Given the description of an element on the screen output the (x, y) to click on. 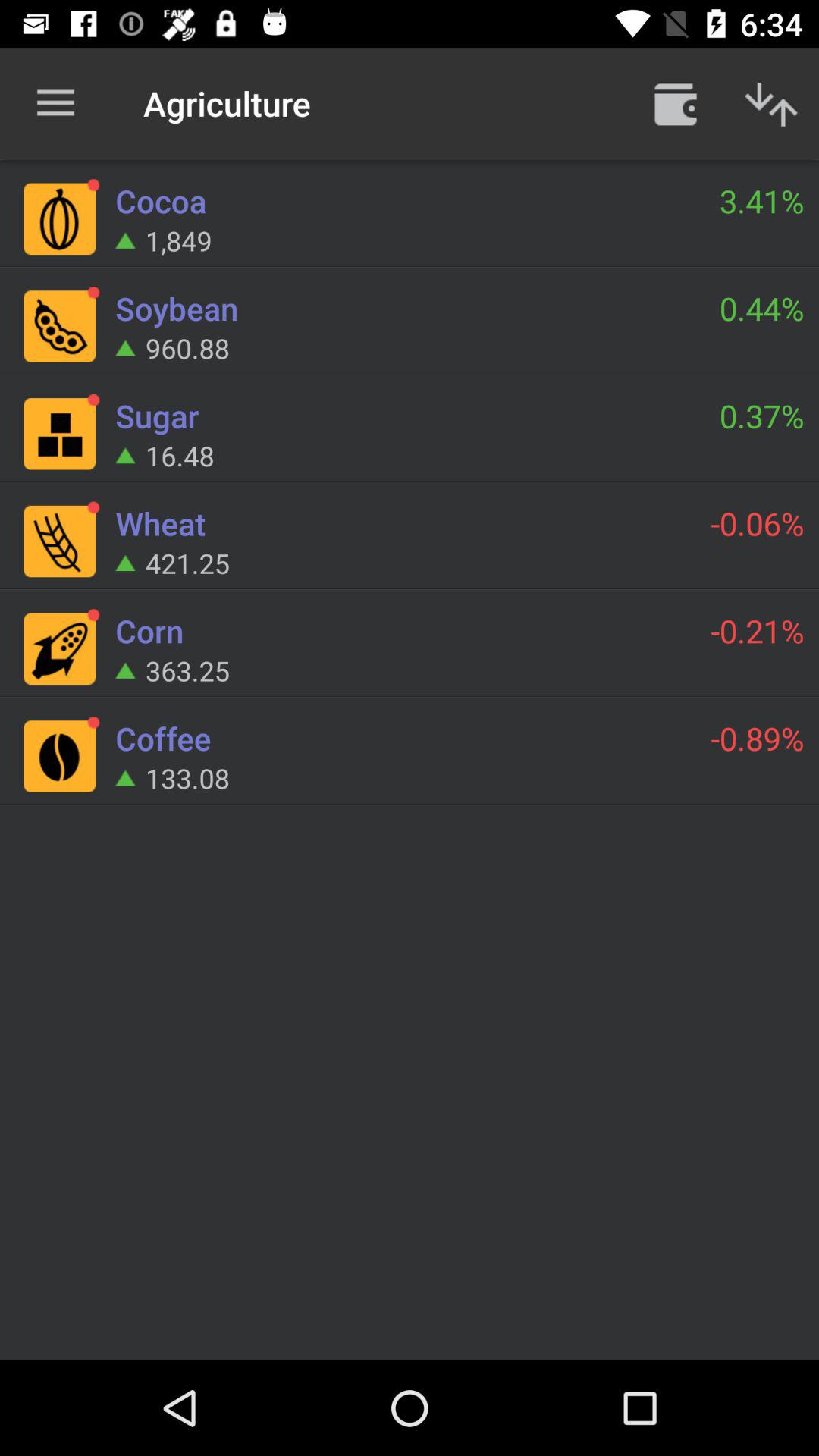
open menu (675, 103)
